Given the description of an element on the screen output the (x, y) to click on. 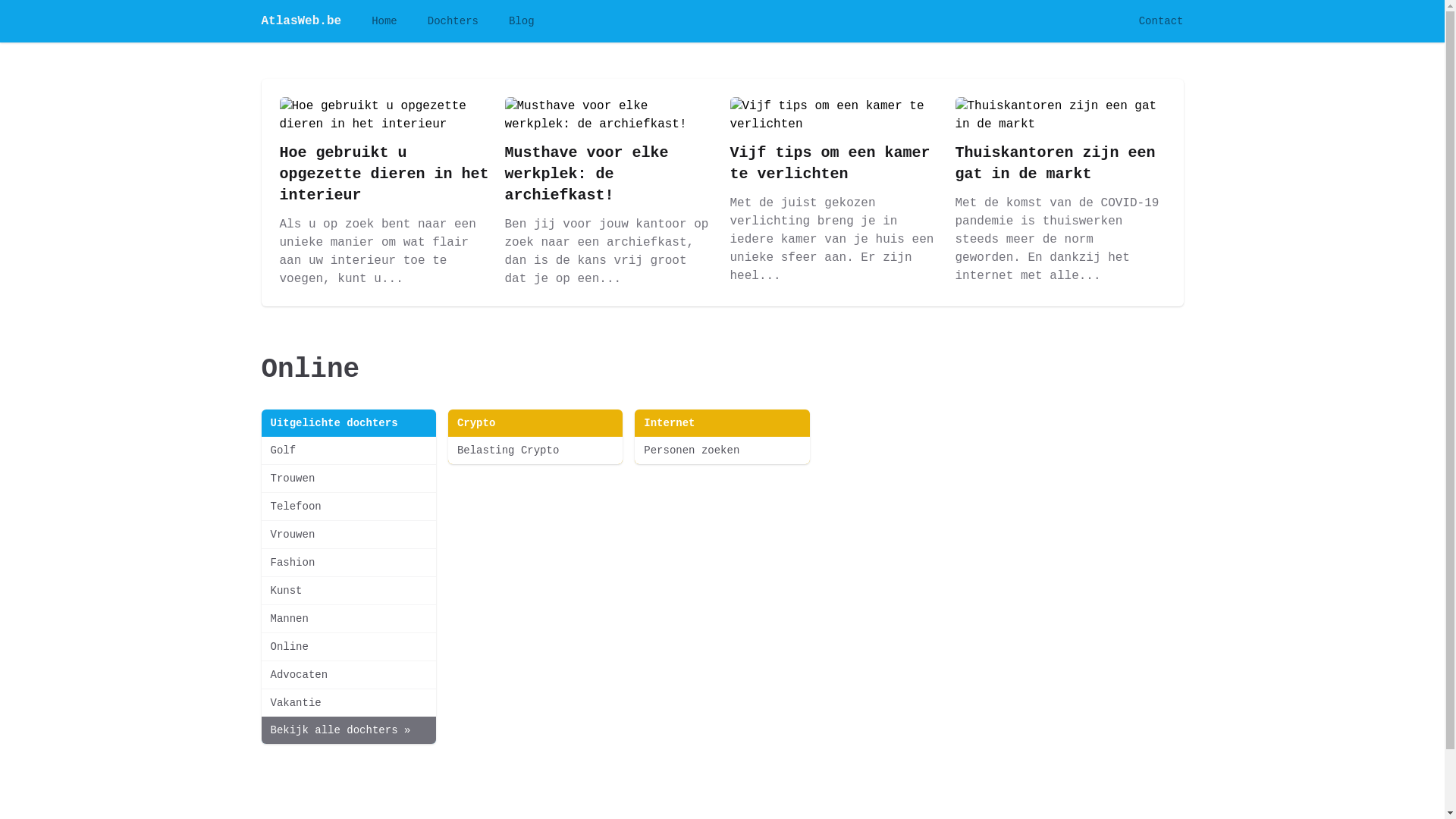
Contact Element type: text (1161, 20)
Personen zoeken Element type: text (721, 450)
Home Element type: text (384, 20)
Trouwen Element type: text (347, 478)
Kunst Element type: text (347, 590)
Mannen Element type: text (347, 618)
Fashion Element type: text (347, 562)
Dochters Element type: text (452, 20)
Vakantie Element type: text (347, 702)
Belasting Crypto Element type: text (535, 450)
Online Element type: text (347, 646)
AtlasWeb.be Element type: text (300, 21)
Golf Element type: text (347, 450)
Vrouwen Element type: text (347, 534)
Telefoon Element type: text (347, 506)
Blog Element type: text (521, 20)
Advocaten Element type: text (347, 674)
